Given the description of an element on the screen output the (x, y) to click on. 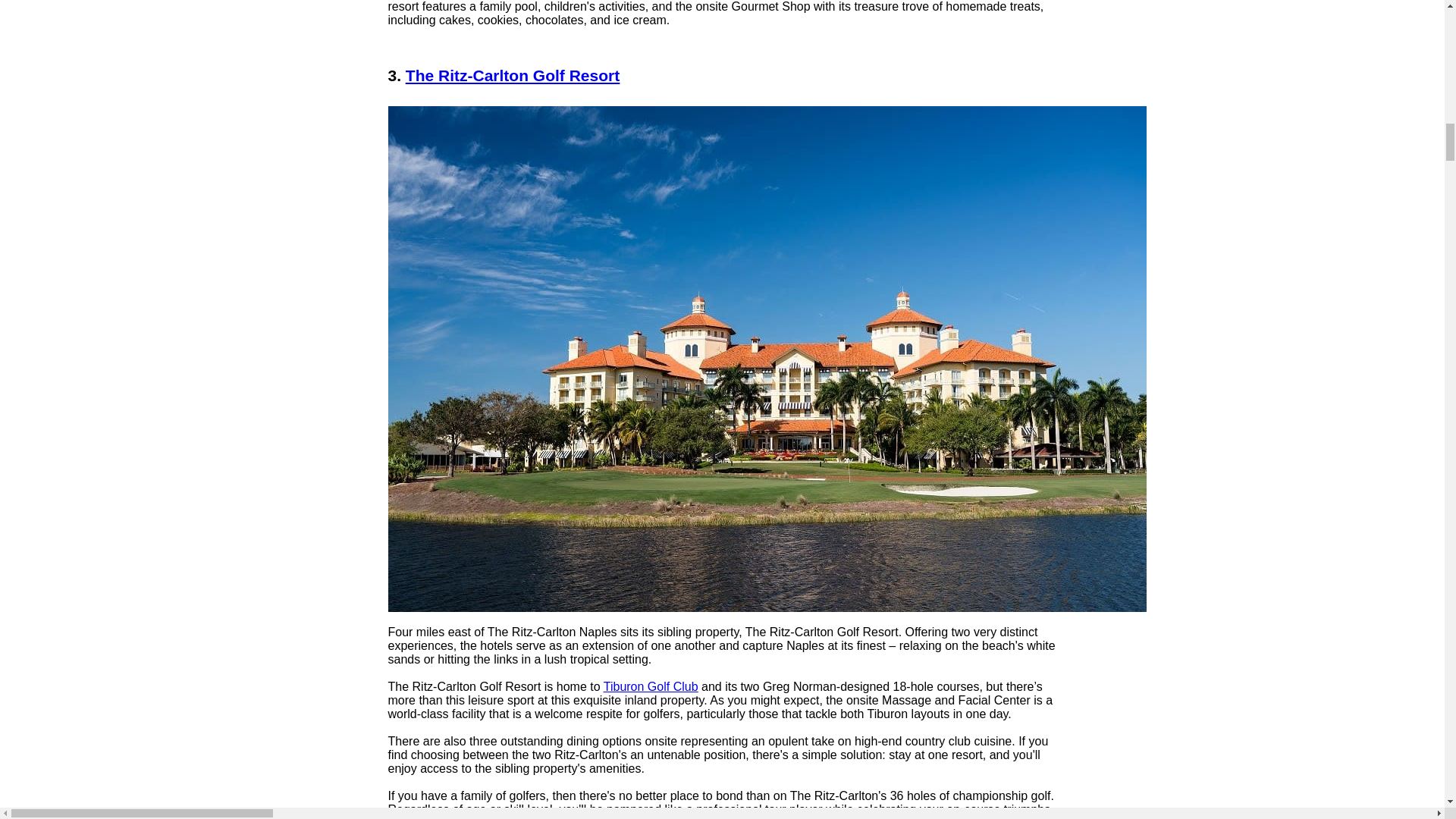
The Ritz-Carlton Golf Resort (513, 75)
Tiburon Golf Club (651, 686)
